Given the description of an element on the screen output the (x, y) to click on. 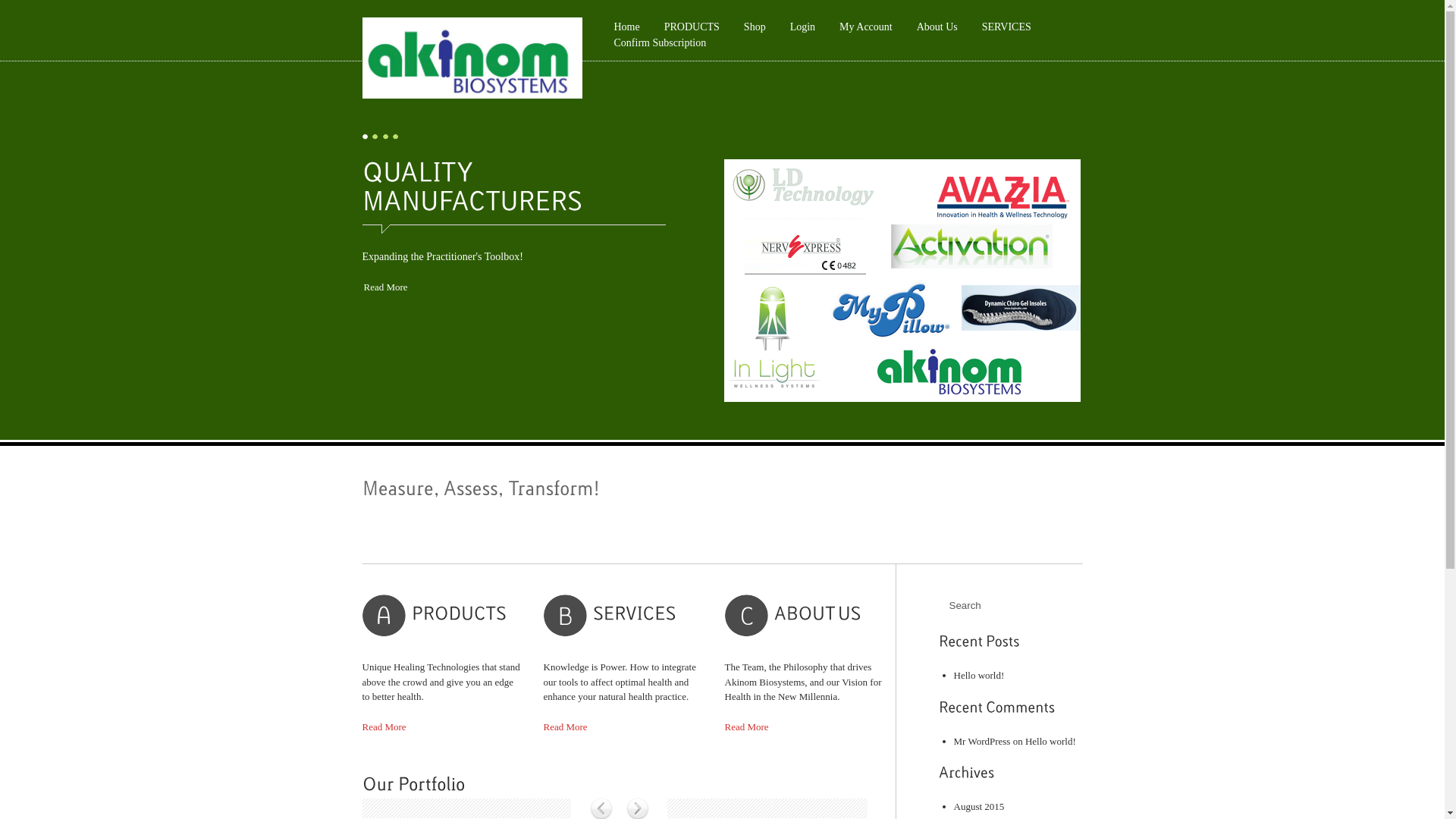
Hello world! Element type: text (978, 674)
August 2015 Element type: text (978, 806)
3 Element type: text (385, 136)
Hello world! Element type: text (1050, 740)
Shop Element type: text (754, 26)
slideimage1 Element type: hover (902, 280)
Next Element type: text (1057, 290)
Home Element type: text (626, 26)
4 Element type: text (395, 136)
Read More Element type: text (746, 726)
About Us Element type: text (937, 26)
Read More Element type: text (384, 726)
Login Element type: text (802, 26)
2 Element type: text (374, 136)
1 Element type: text (364, 136)
Prev Element type: text (387, 290)
PRODUCTS Element type: text (691, 26)
Read More Element type: text (564, 726)
My Account Element type: text (865, 26)
SERVICES Element type: text (1006, 26)
Confirm Subscription Element type: text (659, 42)
Mr WordPress Element type: text (981, 740)
